Given the description of an element on the screen output the (x, y) to click on. 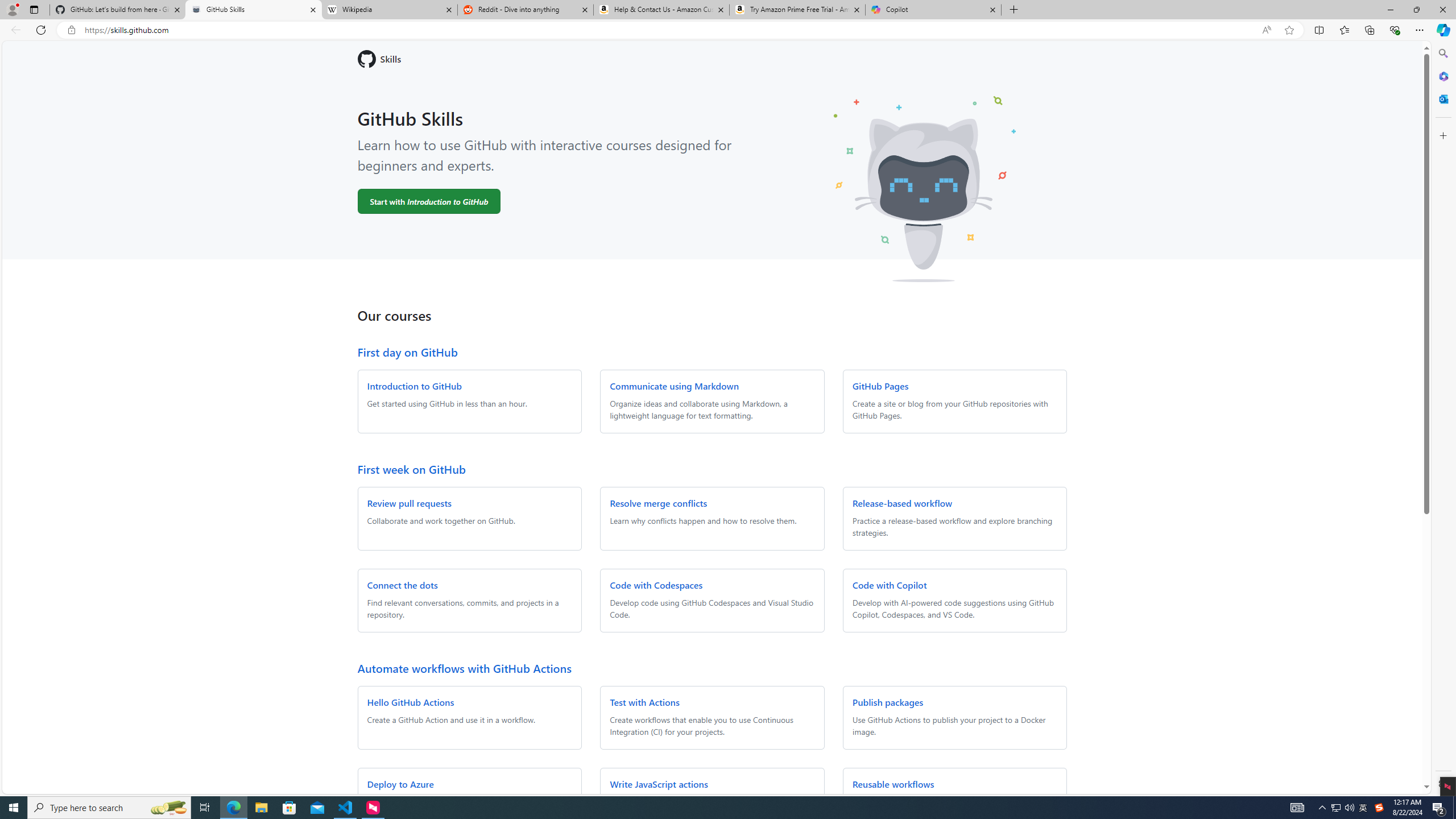
Test with Actions (644, 702)
Review pull requests (408, 503)
First week on GitHub (410, 468)
